Given the description of an element on the screen output the (x, y) to click on. 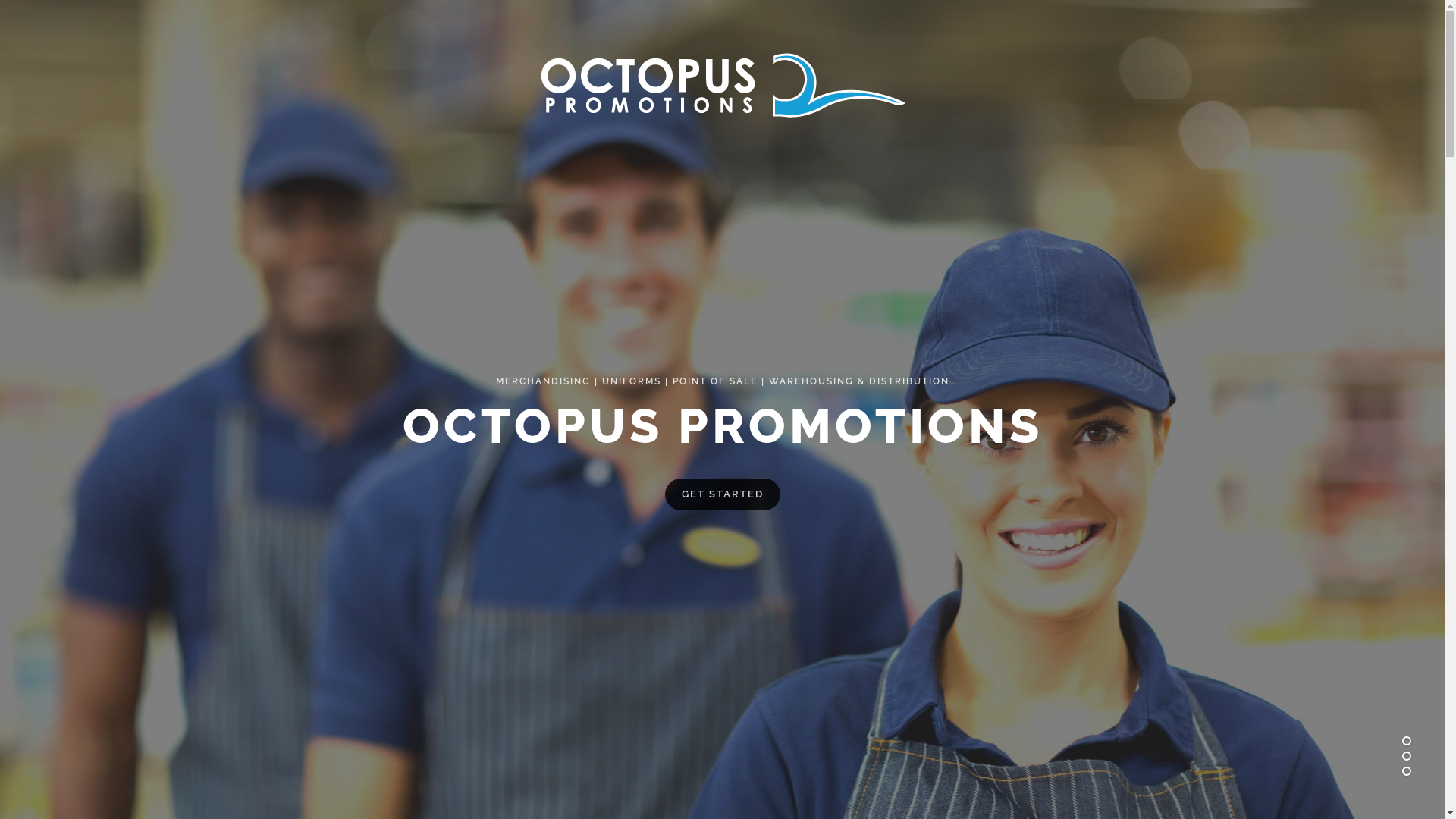
GET STARTED Element type: text (721, 494)
